Given the description of an element on the screen output the (x, y) to click on. 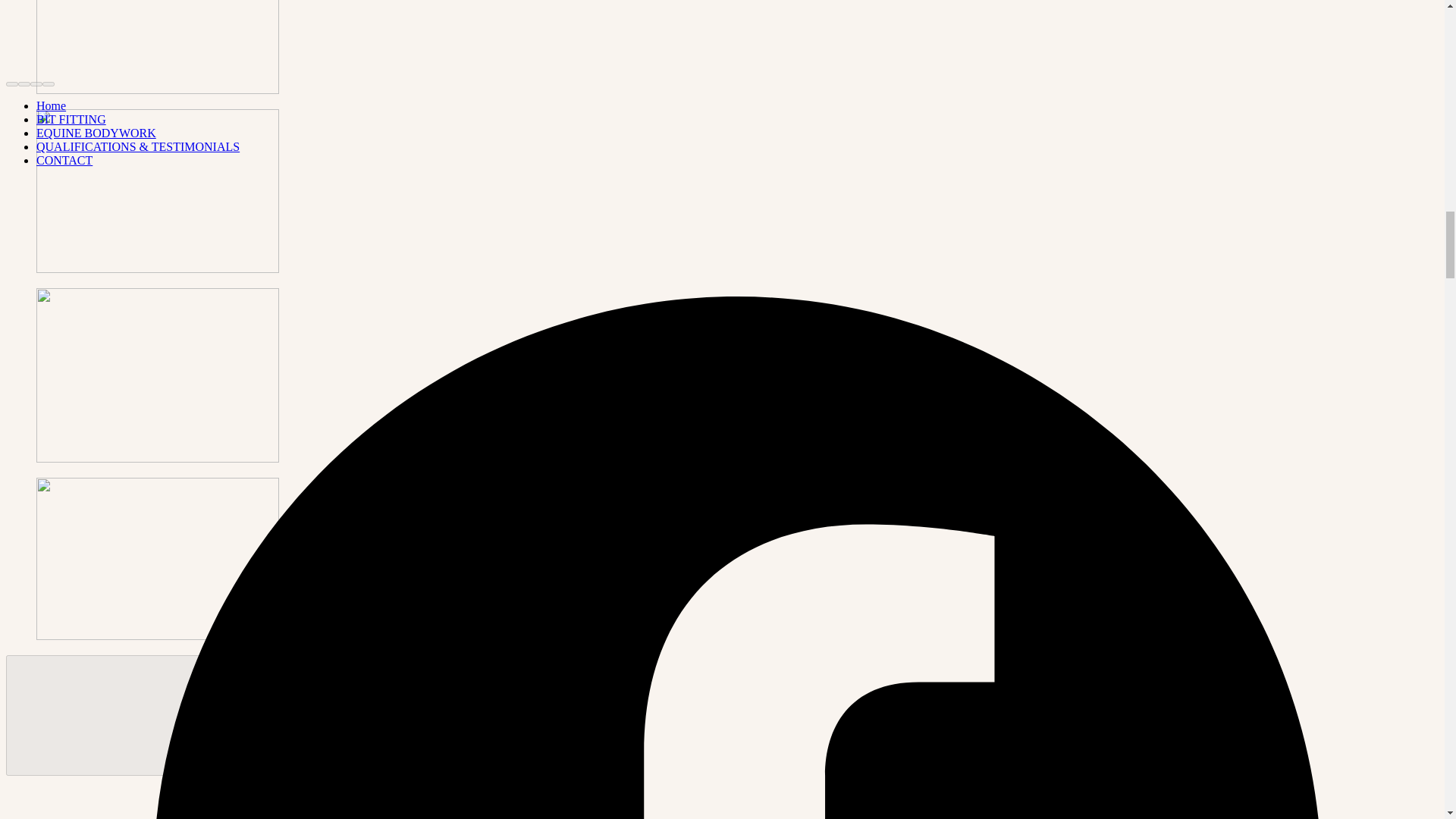
EQUINE BODYWORK (95, 132)
BIT FITTING (71, 119)
Home (50, 105)
CONTACT (64, 160)
